Given the description of an element on the screen output the (x, y) to click on. 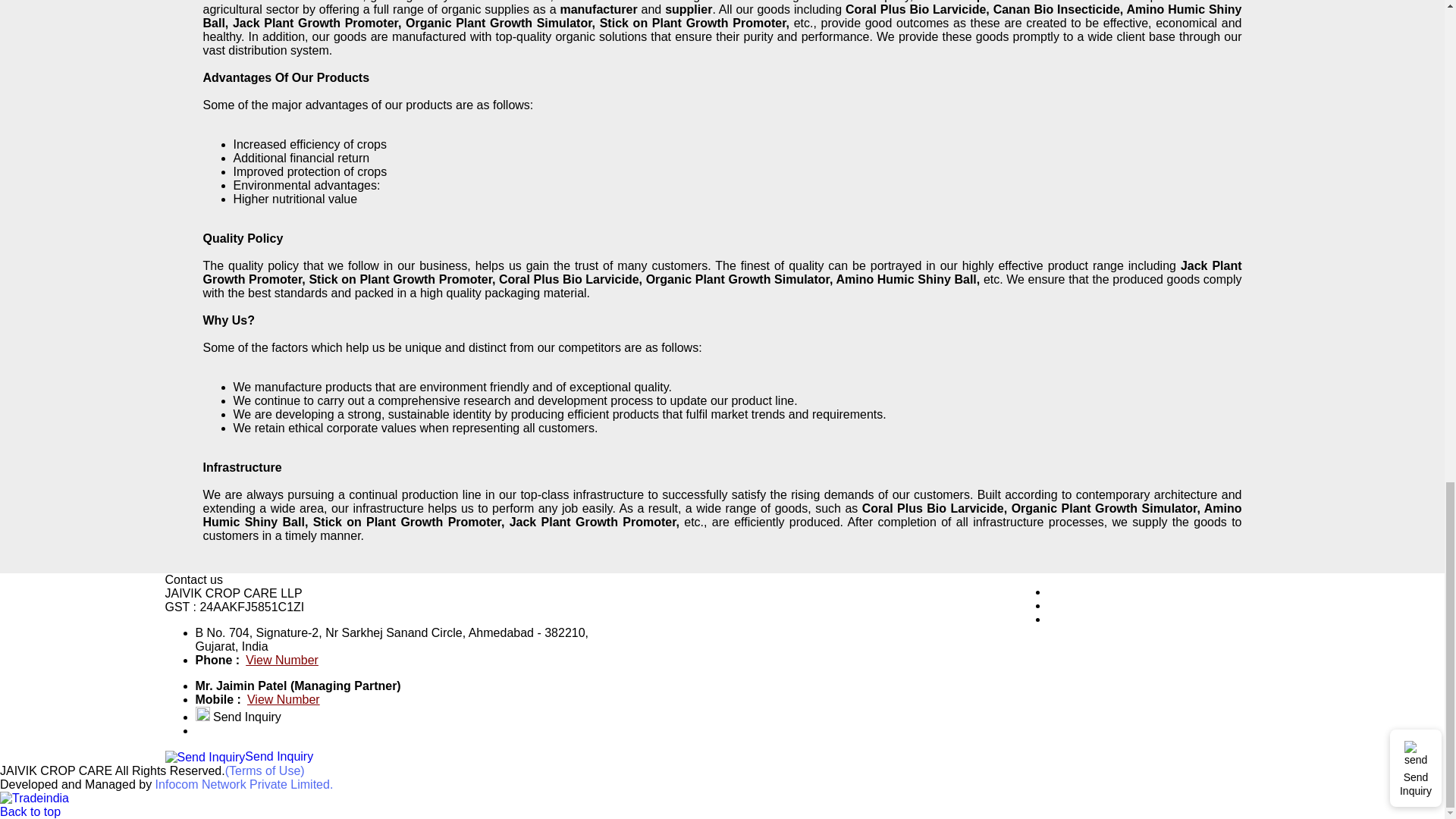
Accepts only Domestic Inquiries (202, 713)
Back to top (30, 811)
Send Inquiry (205, 757)
